Given the description of an element on the screen output the (x, y) to click on. 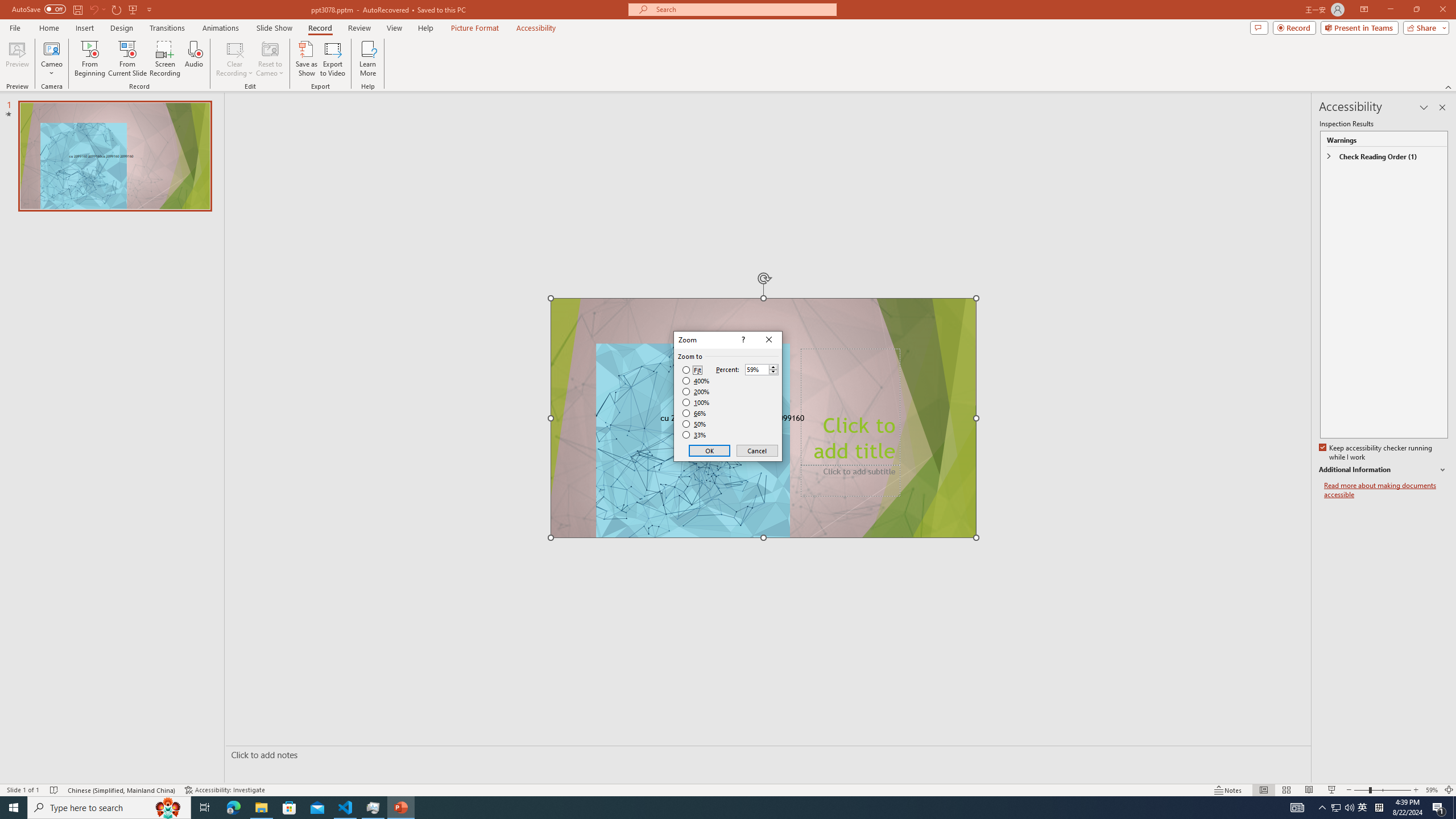
Start (13, 807)
Microsoft search (742, 9)
Accessibility (536, 28)
Clear Recording (234, 58)
Picture Format (475, 28)
Show desktop (1454, 807)
Microsoft Store (289, 807)
33% (694, 434)
Cancel (756, 450)
Close pane (1441, 107)
